Given the description of an element on the screen output the (x, y) to click on. 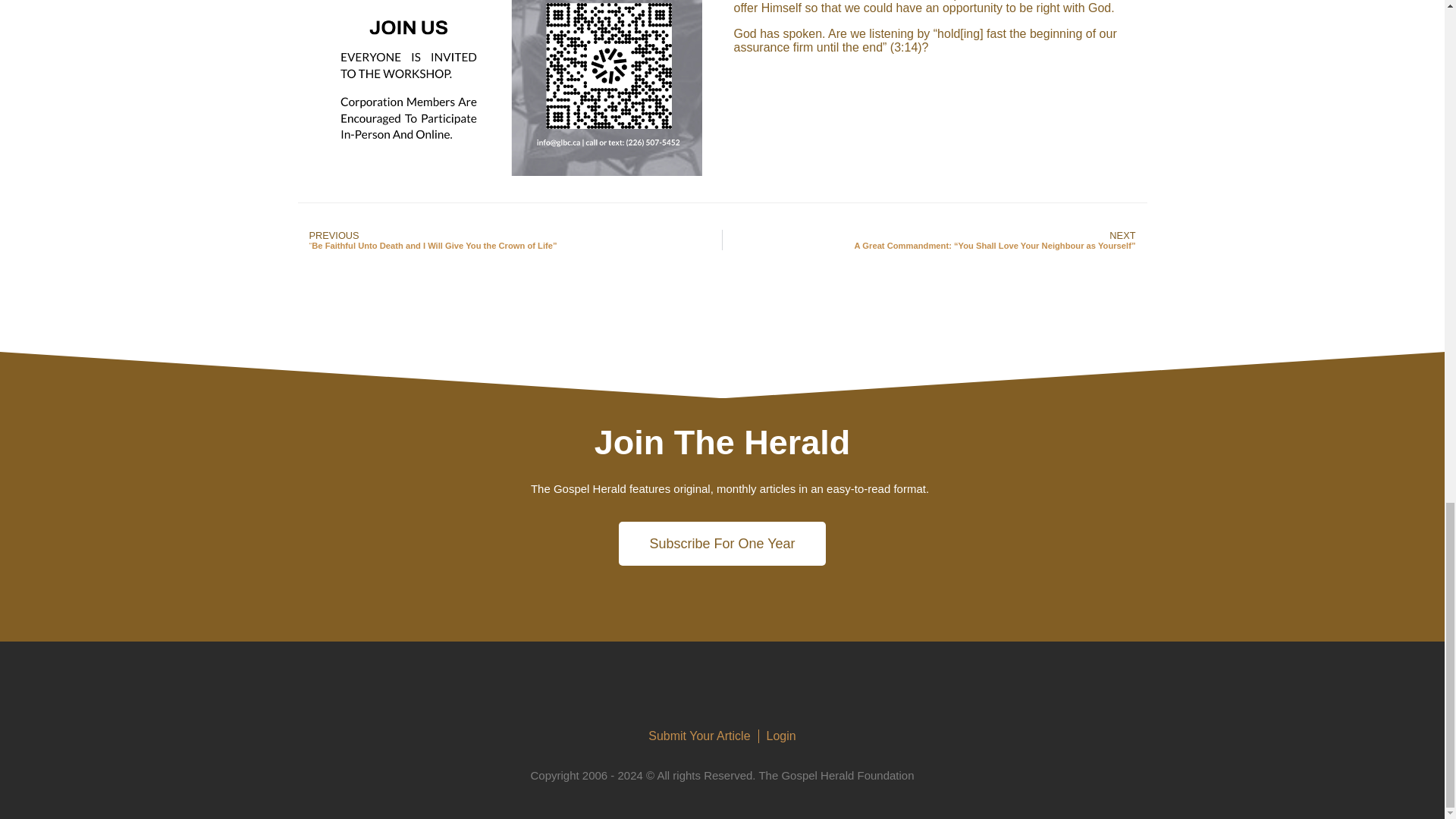
Submit Your Article (698, 735)
Login (781, 735)
Subscribe For One Year (721, 543)
